Given the description of an element on the screen output the (x, y) to click on. 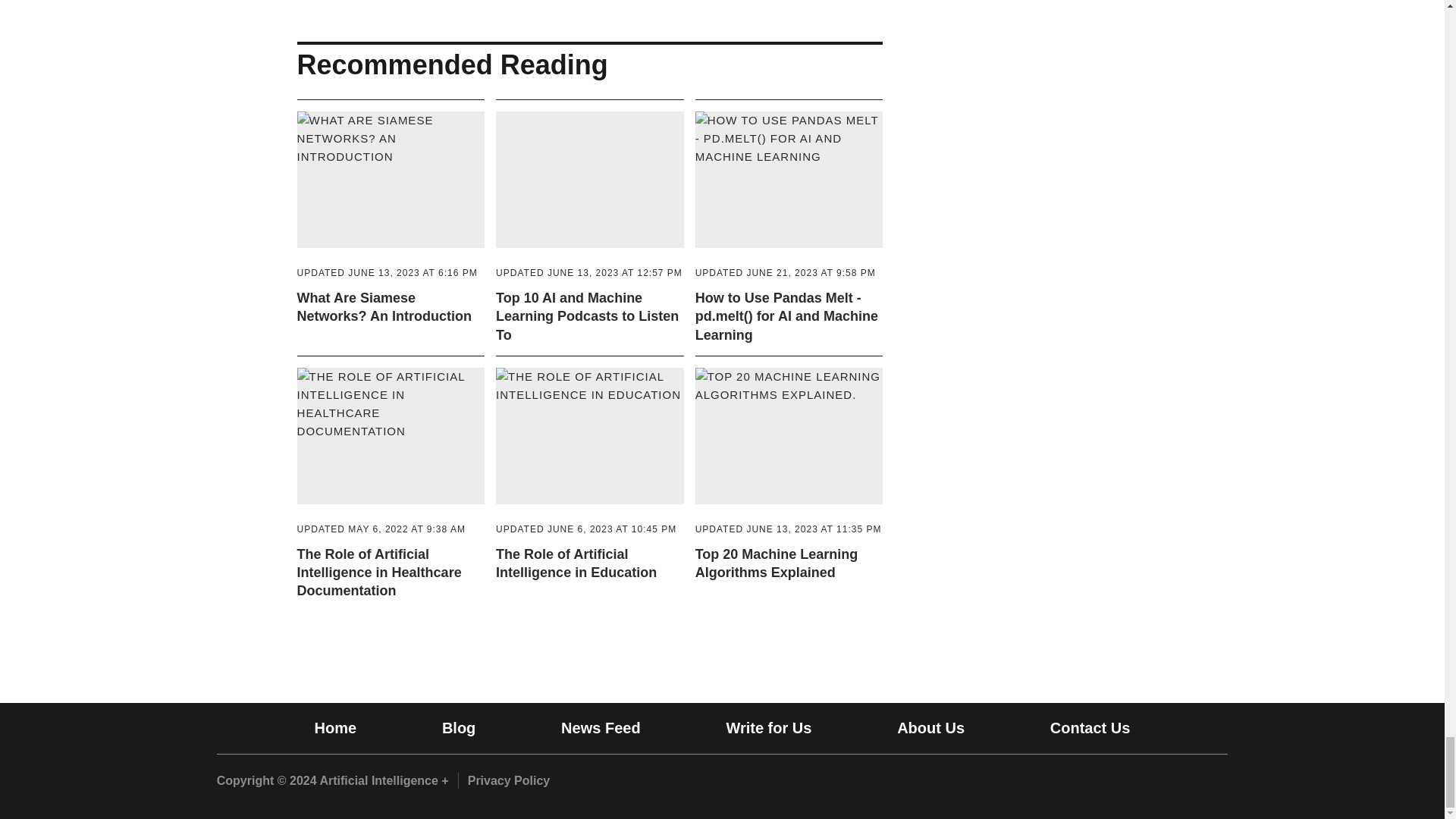
Top 10 AI and Machine Learning Podcasts to Listen To (587, 316)
What Are Siamese Networks? An Introduction (387, 272)
Top 10 AI and Machine Learning Podcasts to Listen To (589, 272)
What Are Siamese Networks? An Introduction (384, 306)
Top 10 AI and Machine Learning Podcasts to Listen To (590, 194)
What Are Siamese Networks? An Introduction (390, 194)
